Given the description of an element on the screen output the (x, y) to click on. 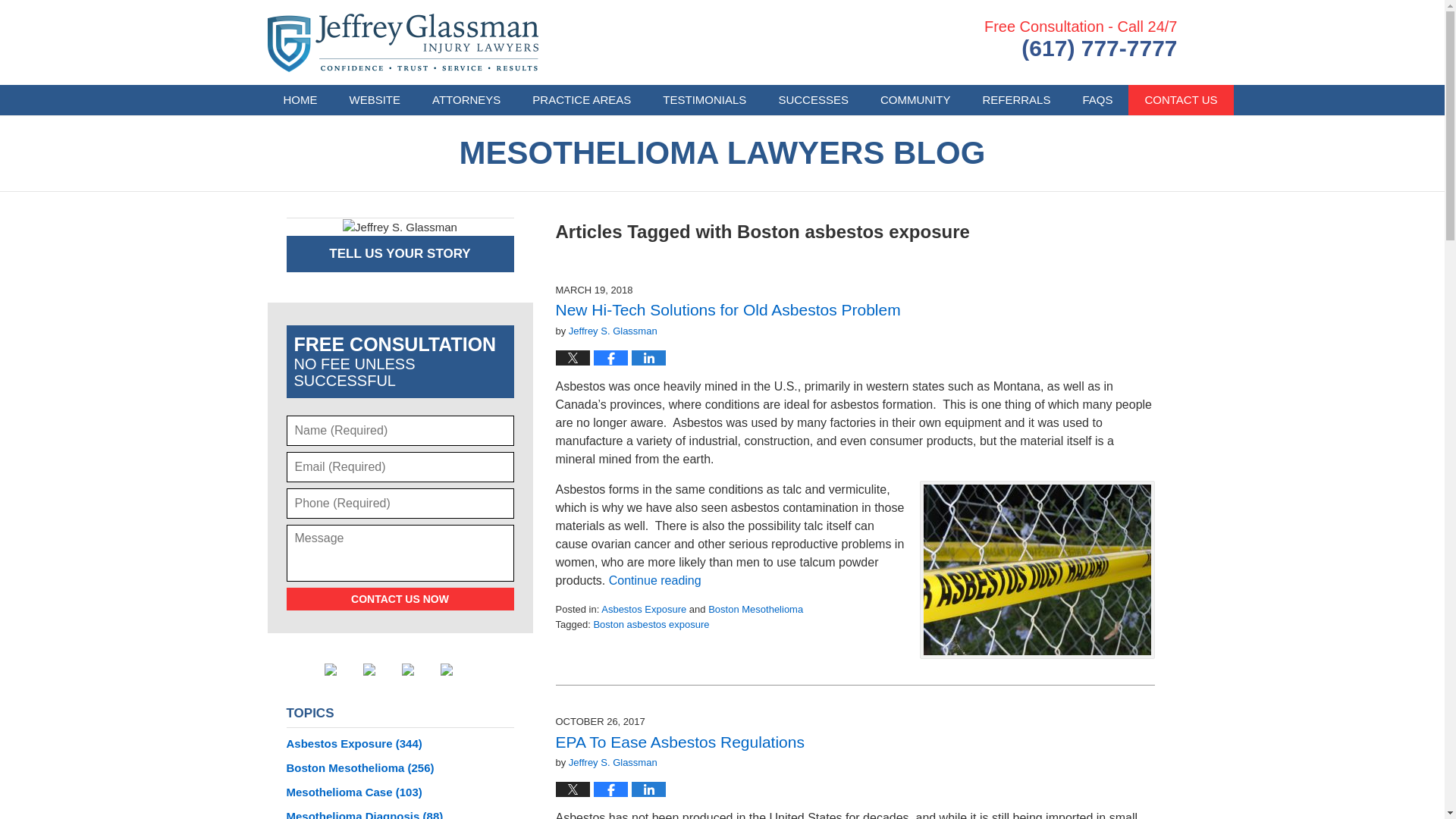
View all posts in Boston Mesothelioma (755, 609)
FAQS (1096, 100)
TESTIMONIALS (703, 100)
CONTACT US (1180, 100)
HOME (299, 100)
Mesothelioma Lawyers Blog (401, 42)
Permalink to New Hi-Tech Solutions for Old Asbestos Problem (726, 309)
View all posts tagged with Boston asbestos exposure (650, 624)
PRACTICE AREAS (581, 100)
New Hi-Tech Solutions for Old Asbestos Problem (726, 309)
